Given the description of an element on the screen output the (x, y) to click on. 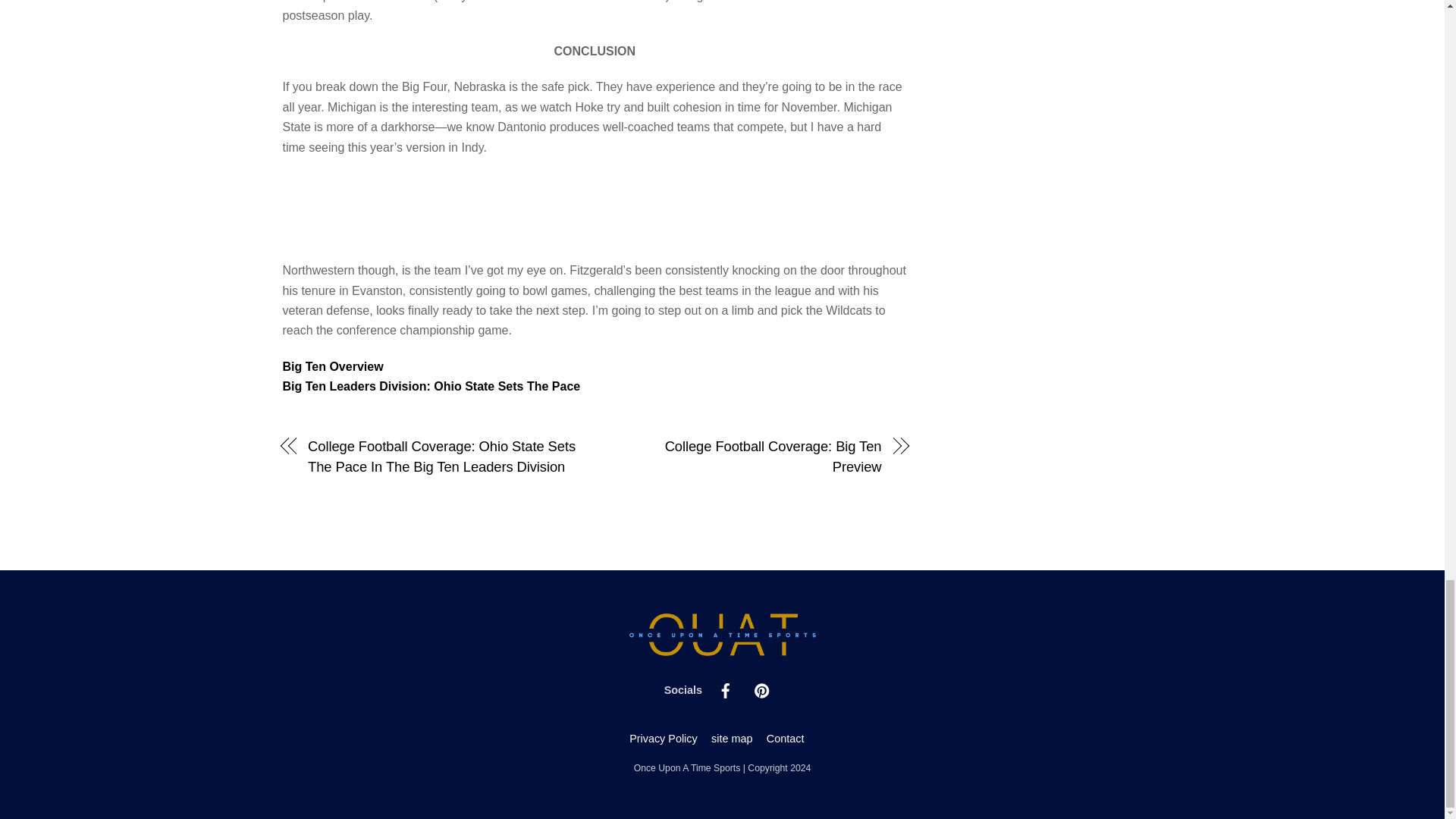
college football coverage (332, 366)
college football coverage (430, 386)
OUAT Sports (721, 651)
